Given the description of an element on the screen output the (x, y) to click on. 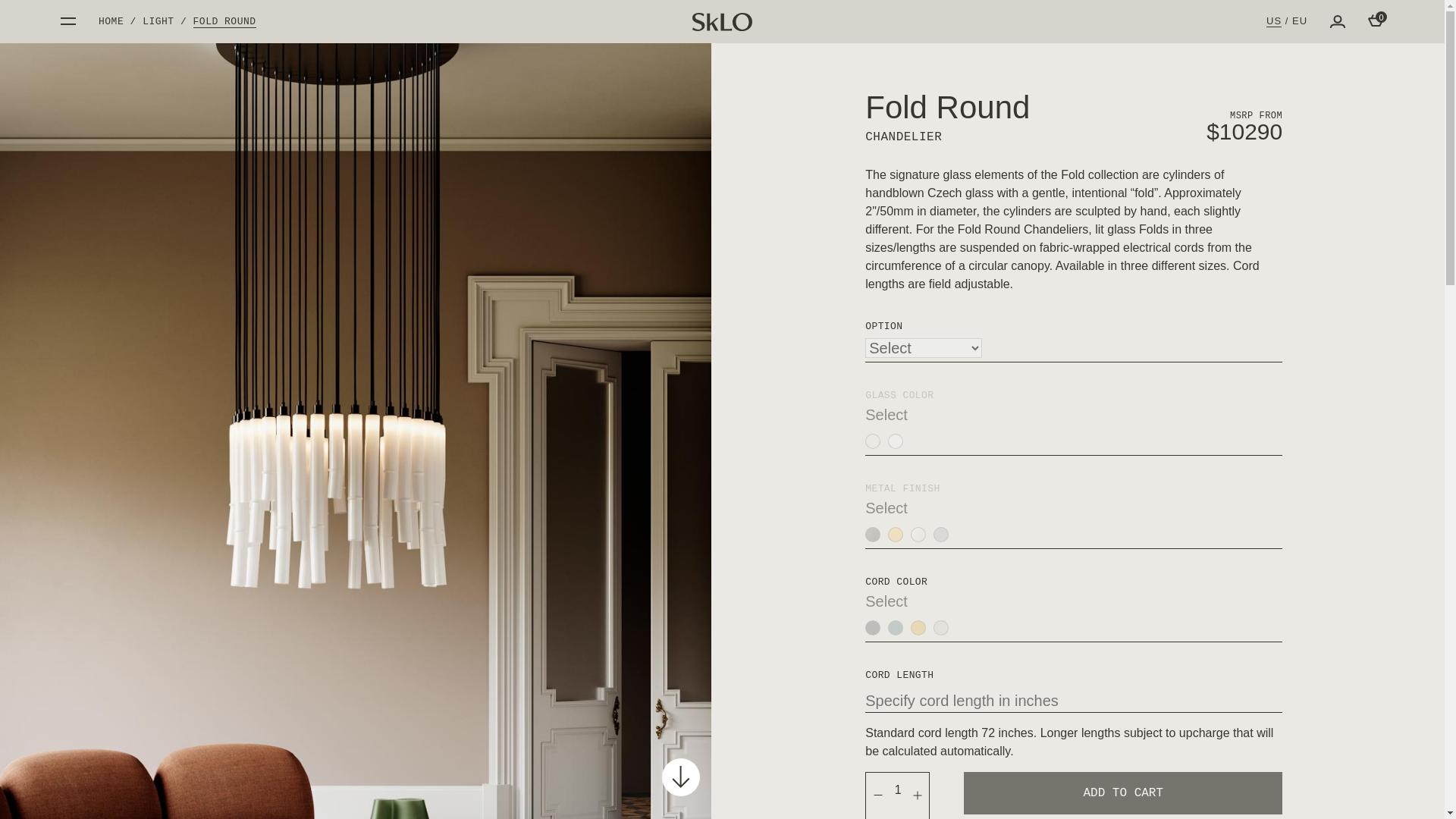
LIGHT (158, 21)
Open side menu (68, 21)
ADD TO CART (1122, 793)
EU (1299, 20)
US (1273, 21)
0 (1376, 19)
HOME (111, 21)
